Given the description of an element on the screen output the (x, y) to click on. 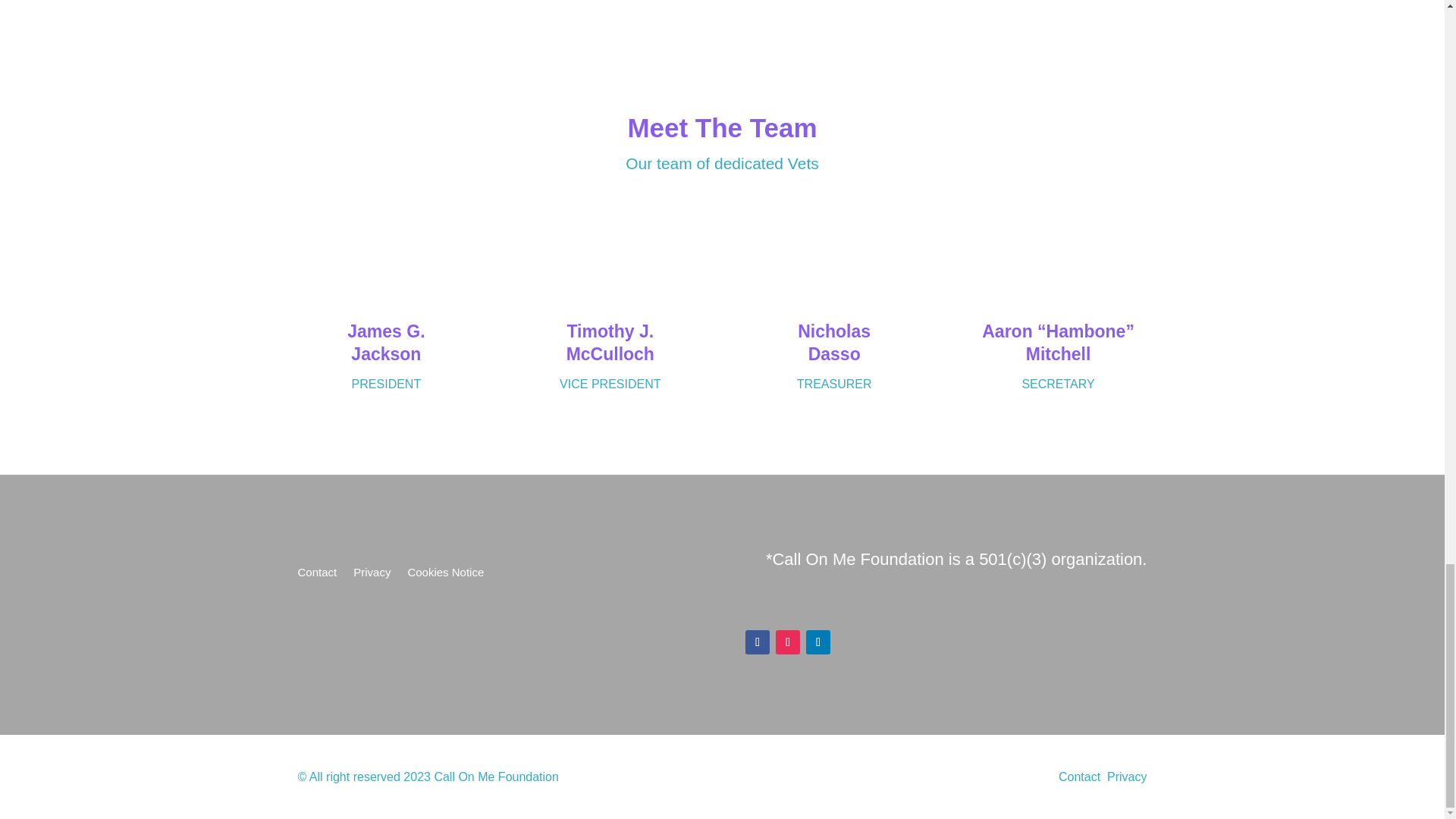
Privacy (371, 575)
Contact (1079, 776)
Follow on Instagram (787, 641)
Contact (316, 575)
Follow on LinkedIn (817, 641)
Privacy (1126, 776)
Cookies Notice (445, 575)
Follow on Facebook (757, 641)
